Given the description of an element on the screen output the (x, y) to click on. 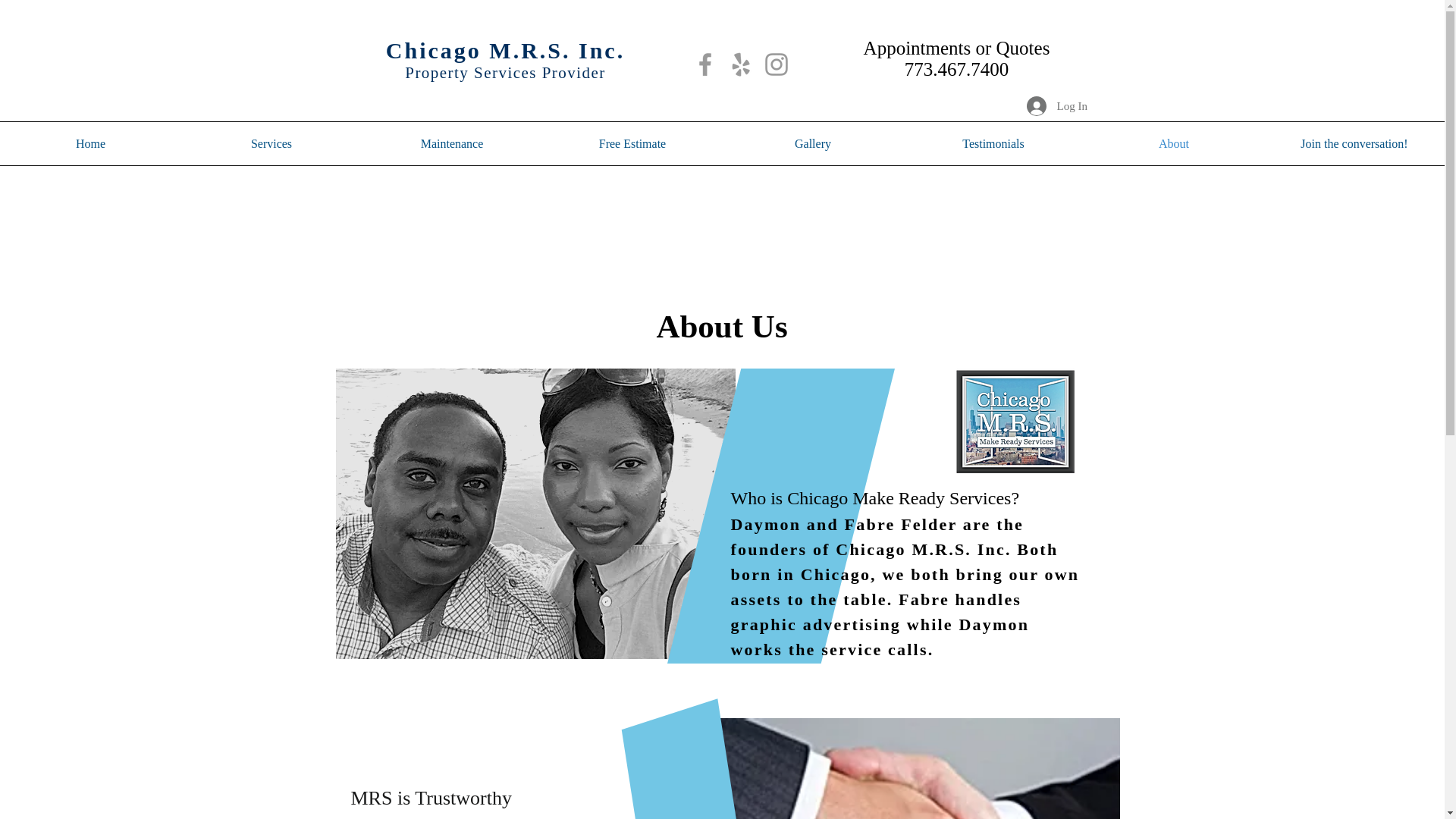
Shaking Hands (894, 768)
Maintenance (451, 143)
Free Estimate (631, 143)
Gallery (812, 143)
Services (270, 143)
About (1173, 143)
Log In (1047, 105)
Home (90, 143)
Testimonials (992, 143)
